Given the description of an element on the screen output the (x, y) to click on. 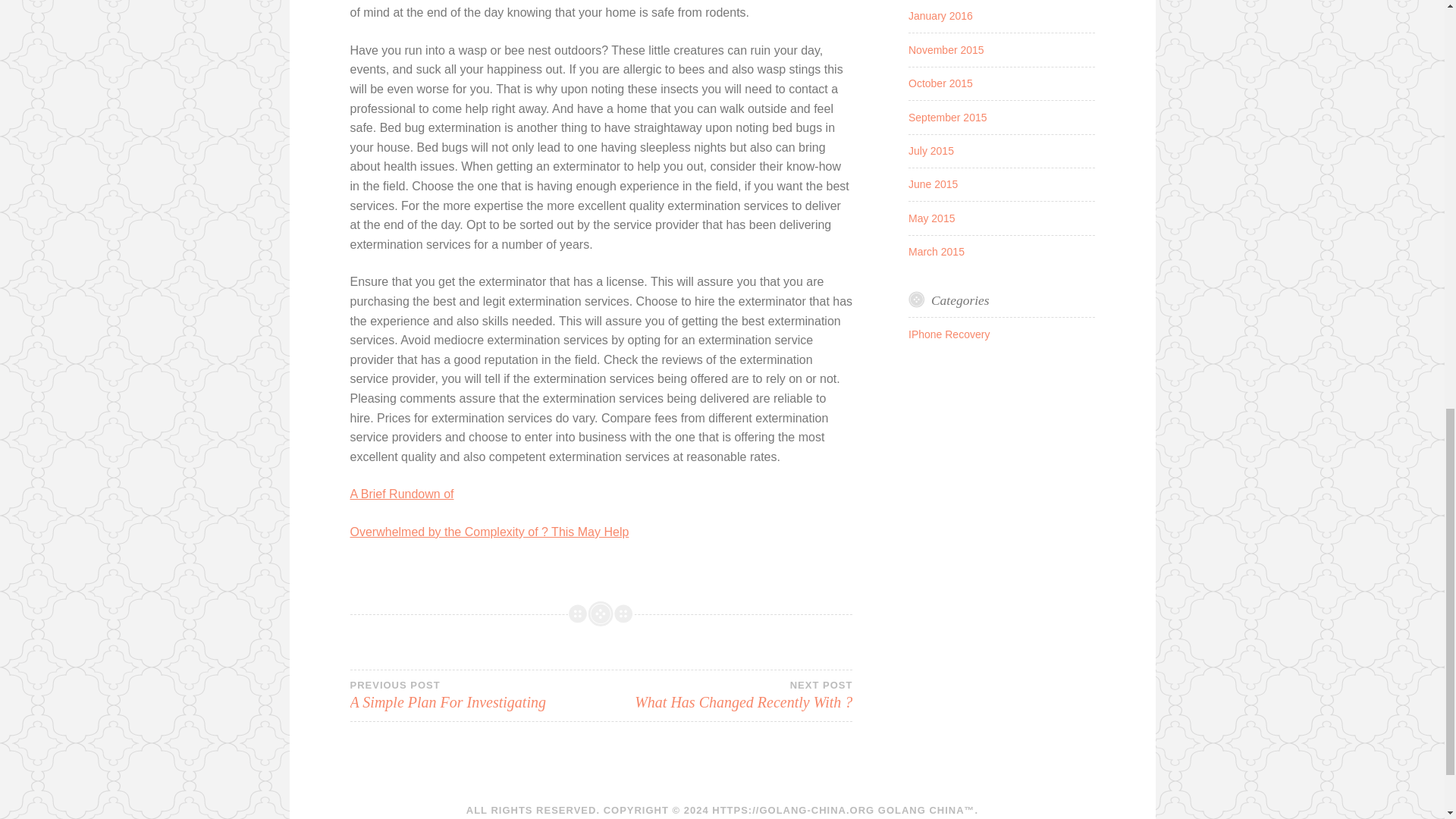
September 2015 (947, 117)
November 2015 (946, 50)
IPhone Recovery (949, 334)
Overwhelmed by the Complexity of ? This May Help (475, 694)
May 2015 (489, 531)
A Brief Rundown of (931, 218)
June 2015 (402, 493)
January 2016 (933, 184)
July 2015 (940, 15)
March 2015 (930, 150)
October 2015 (726, 694)
